Given the description of an element on the screen output the (x, y) to click on. 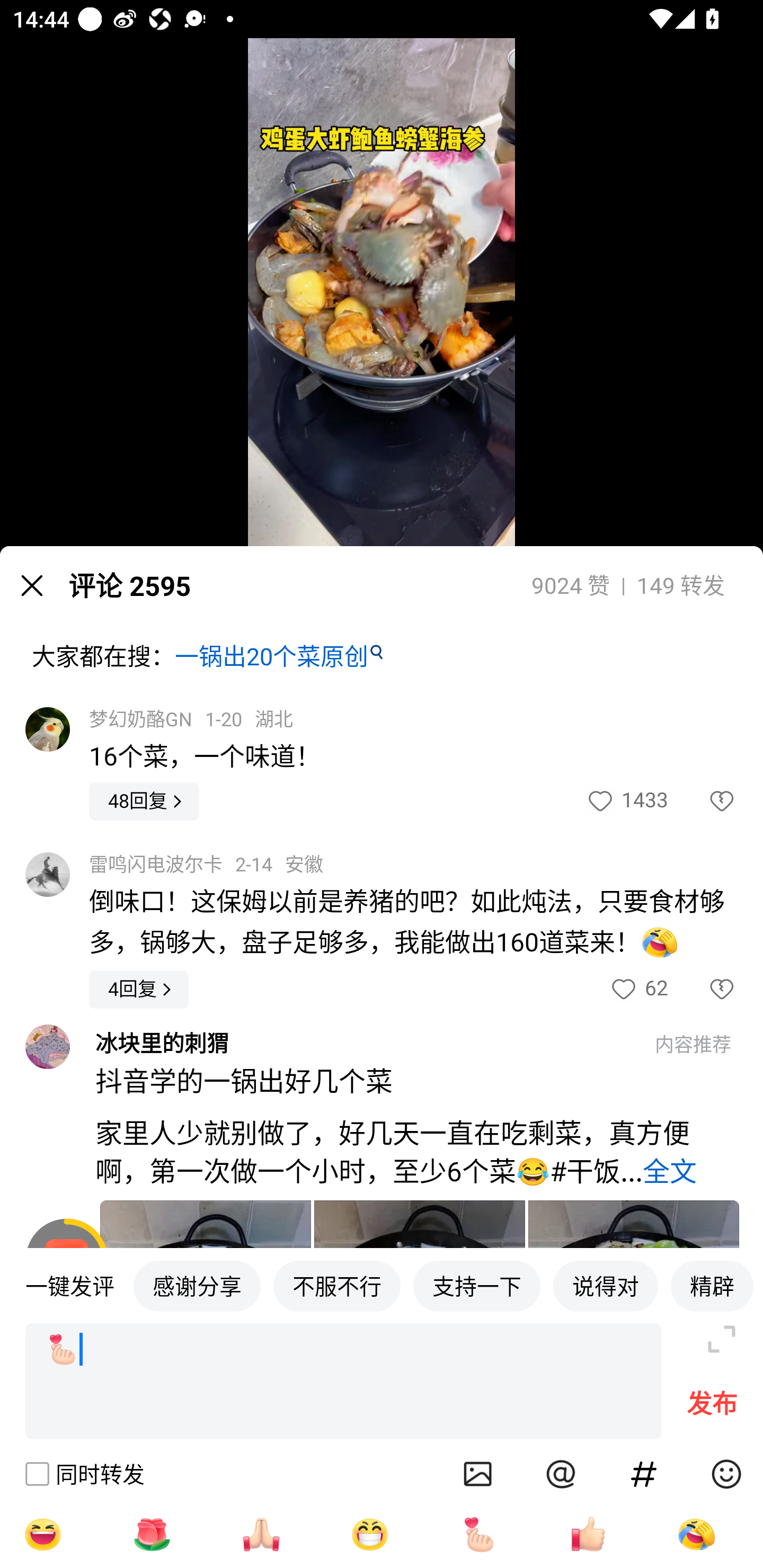
感谢分享 (196, 1285)
不服不行 (336, 1285)
支持一下 (476, 1285)
说得对 (605, 1285)
精辟 (711, 1285)
[比心] (343, 1381)
全屏编辑 (721, 1338)
发布 (711, 1407)
同时转发 (83, 1473)
相册 (478, 1473)
at (560, 1473)
话题 (643, 1473)
表情 (726, 1473)
[大笑] (42, 1534)
[玫瑰] (152, 1534)
[祈祷] (261, 1534)
[呲牙] (369, 1534)
[比心] (478, 1534)
[赞] (588, 1534)
[捂脸] (696, 1534)
